Given the description of an element on the screen output the (x, y) to click on. 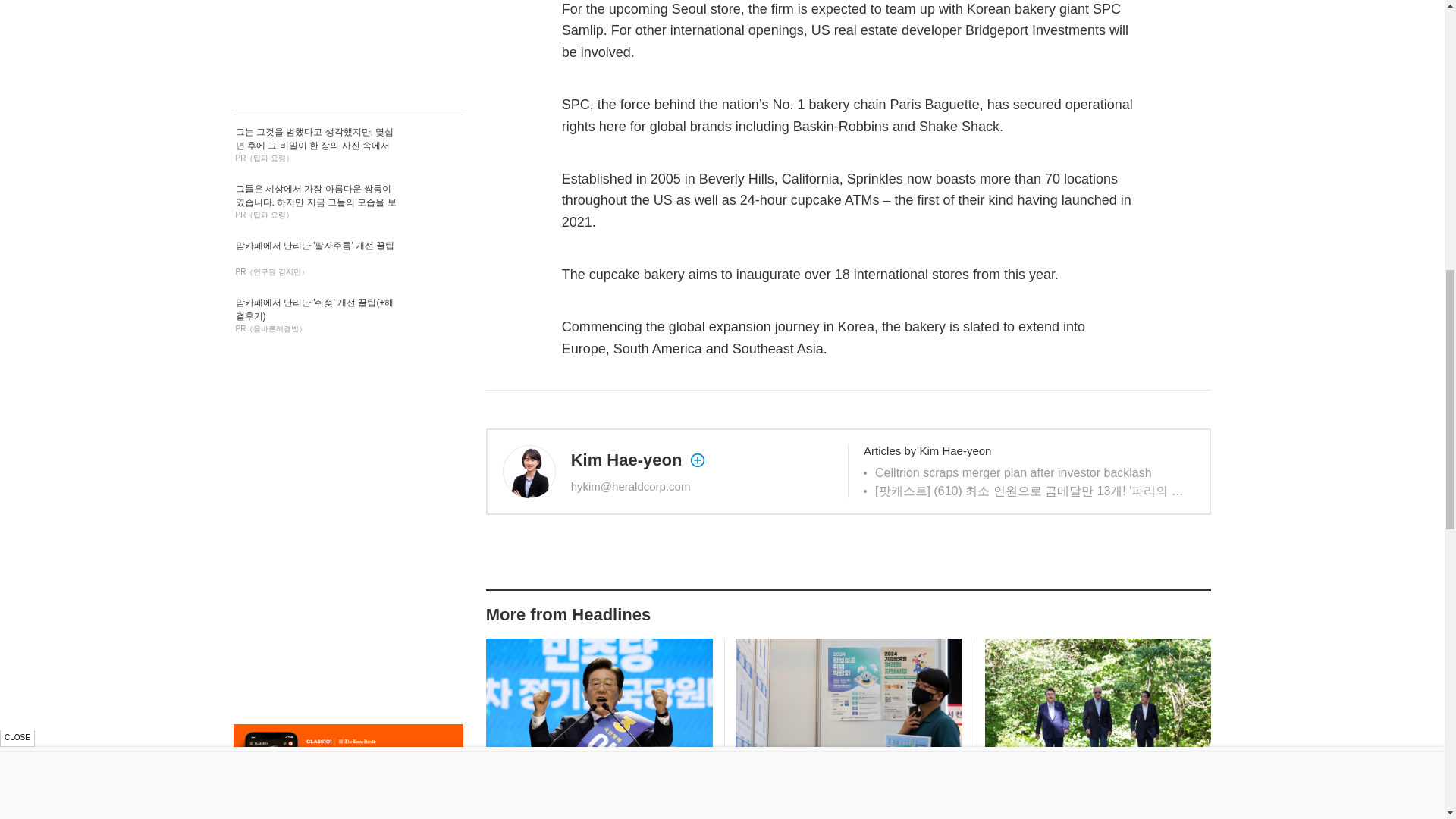
3rd party ad content (347, 458)
3rd party ad content (347, 42)
3rd party ad content (347, 811)
